Given the description of an element on the screen output the (x, y) to click on. 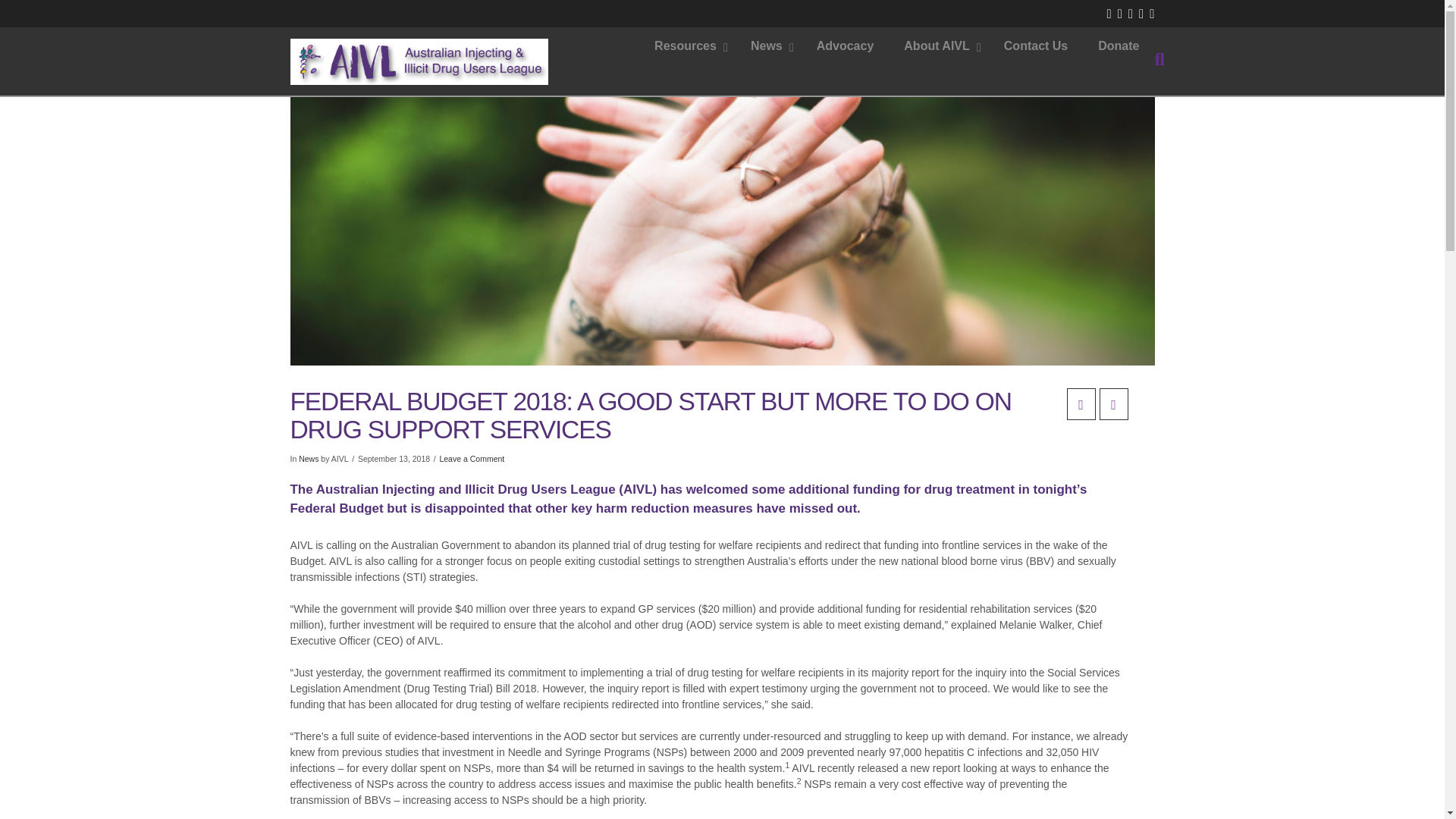
News (896, 46)
Donate (308, 458)
Advocacy (1118, 46)
Leave a Comment (845, 46)
Resources (471, 458)
News (687, 46)
Contact Us (768, 46)
About AIVL (1035, 46)
